Given the description of an element on the screen output the (x, y) to click on. 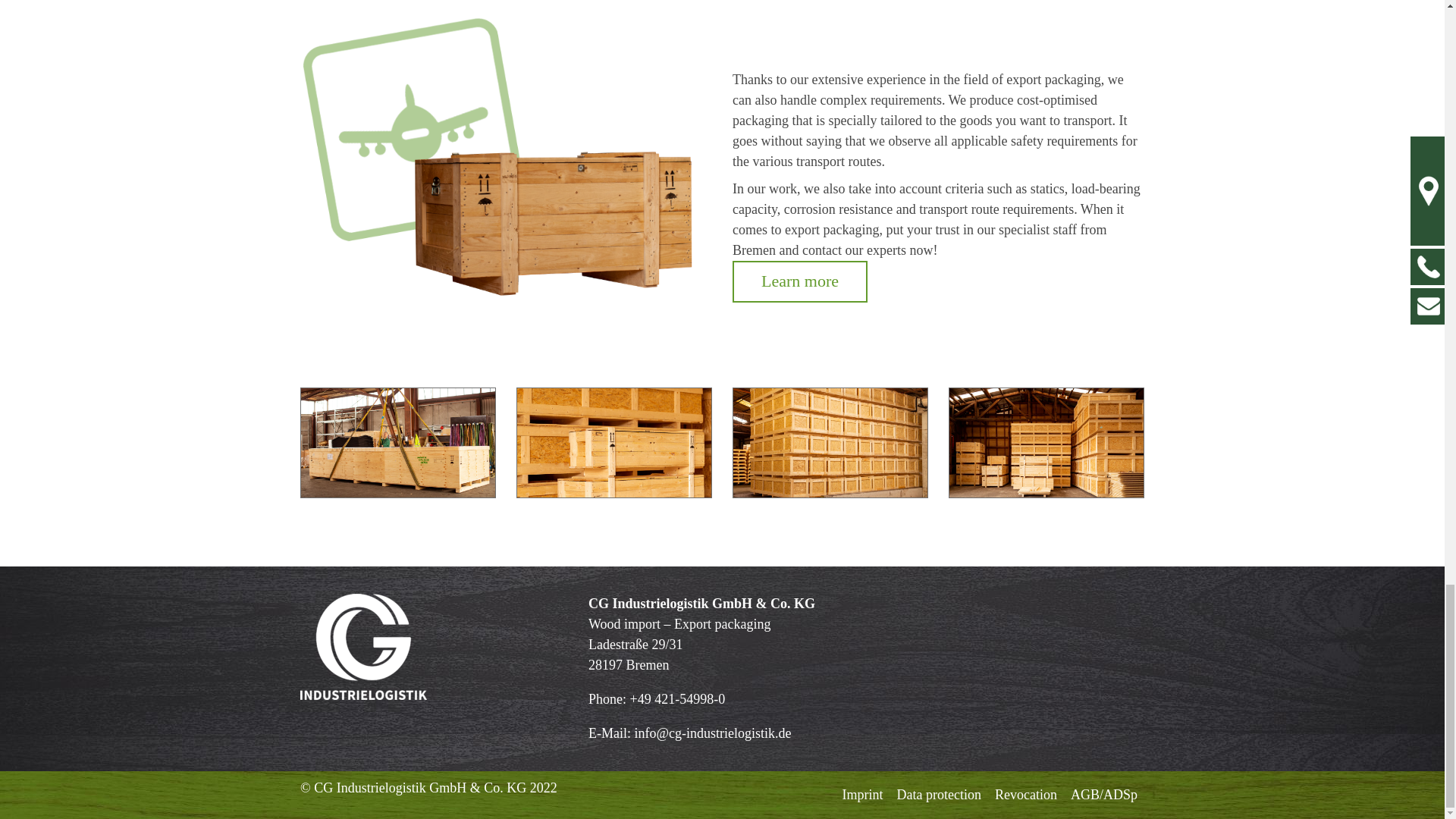
Learn more (799, 281)
Imprint (862, 795)
Revocation (1026, 795)
Data protection (938, 795)
